Given the description of an element on the screen output the (x, y) to click on. 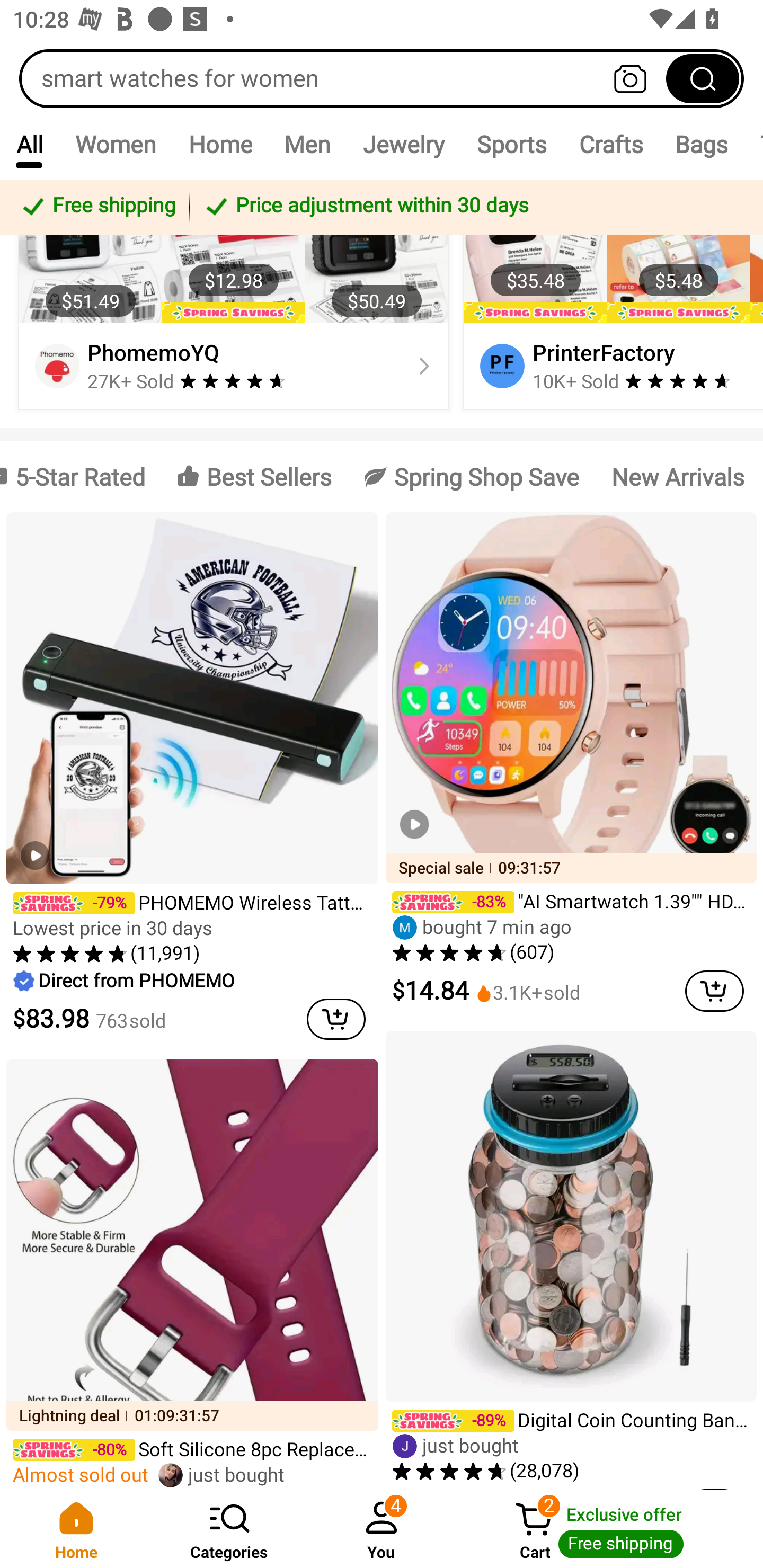
smart watches for women (381, 78)
All (29, 144)
Women (115, 144)
Home (219, 144)
Men (306, 144)
Jewelry (403, 144)
Sports (511, 144)
Crafts (611, 144)
Bags (701, 144)
Recommended Providers (381, 180)
$51.49 $12.98 $50.49 PhomemoYQ 27K+ Sold (233, 297)
$35.48 $5.48 PrinterFactory 10K+ Sold (610, 297)
Free shipping (97, 206)
Price adjustment within 30 days (472, 206)
5-Star Rated 5-Star Rated 5-Star Rated (80, 476)
Best Sellers Best Sellers Best Sellers (253, 476)
Spring Shop Save Spring Shop Save Spring Shop Save (471, 476)
New Arrivals (677, 476)
cart delete (714, 990)
cart delete (335, 1018)
Home (76, 1528)
Categories (228, 1528)
You 4 You (381, 1528)
Cart 2 Cart Exclusive offer (610, 1528)
